Given the description of an element on the screen output the (x, y) to click on. 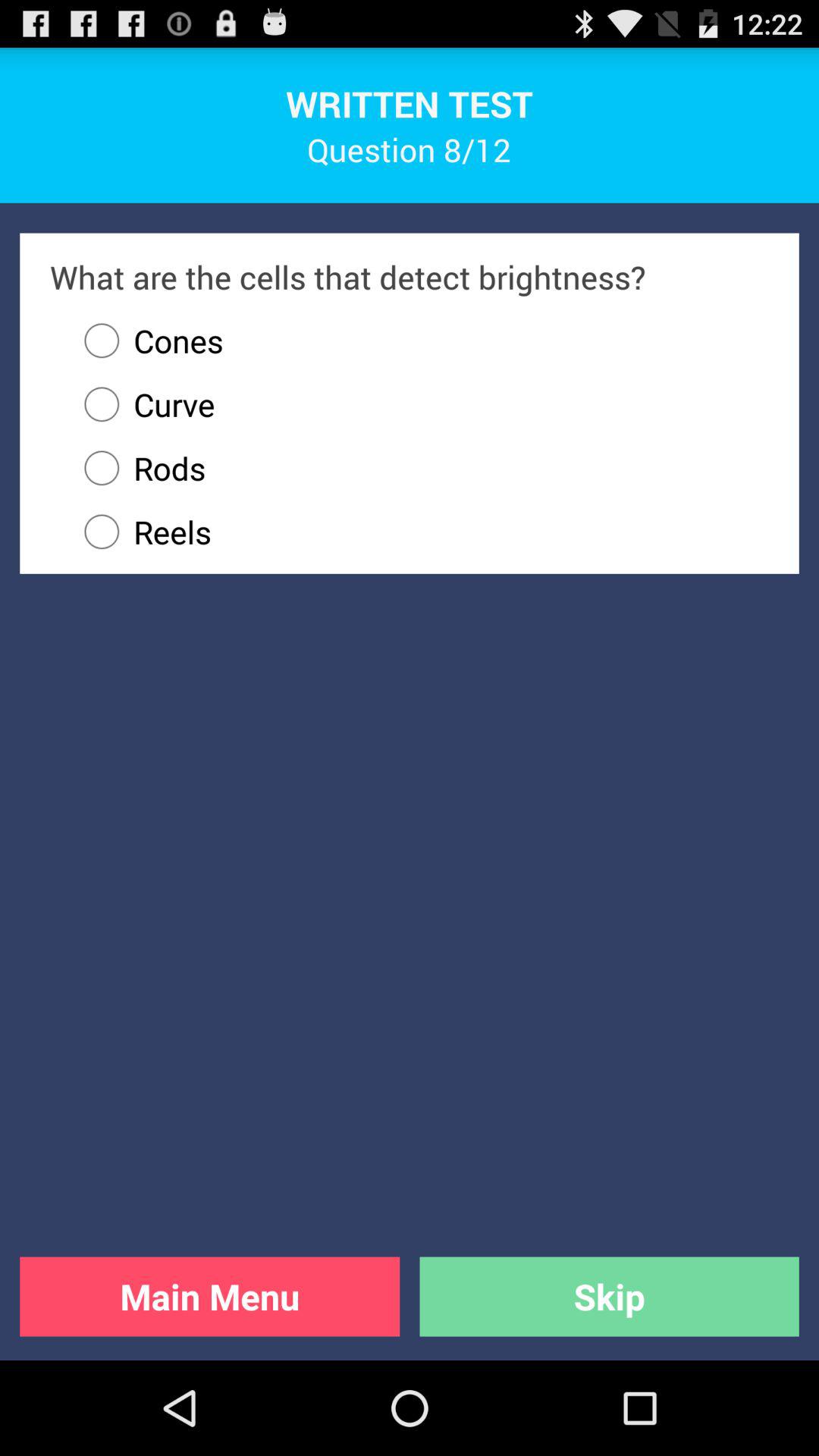
flip until the cones item (146, 340)
